Given the description of an element on the screen output the (x, y) to click on. 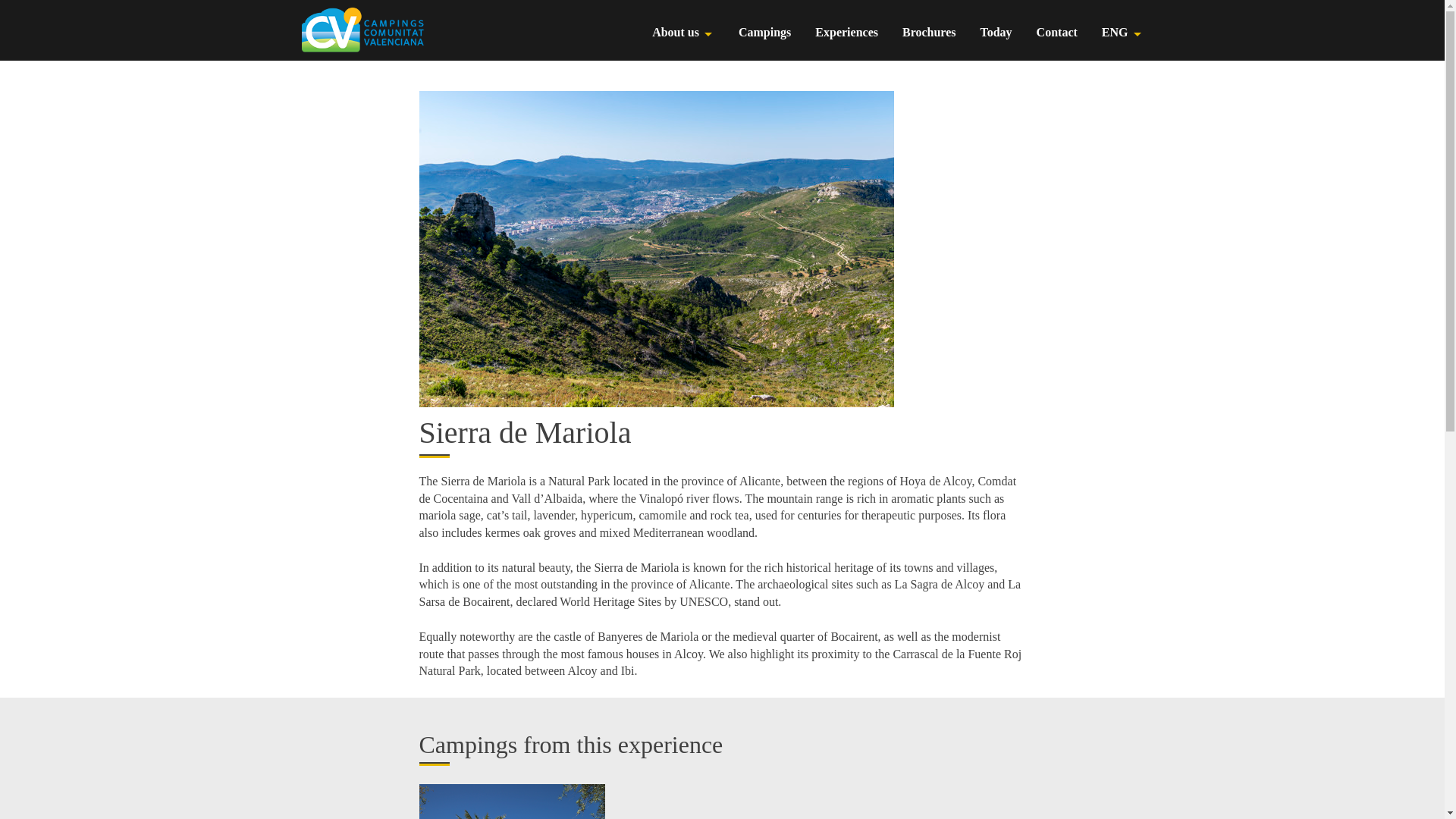
ENG (1115, 32)
Experiences (846, 32)
ENG (1115, 32)
About us (675, 32)
Brochures (929, 32)
Campings (764, 32)
Today (995, 32)
Contact (1056, 32)
